Given the description of an element on the screen output the (x, y) to click on. 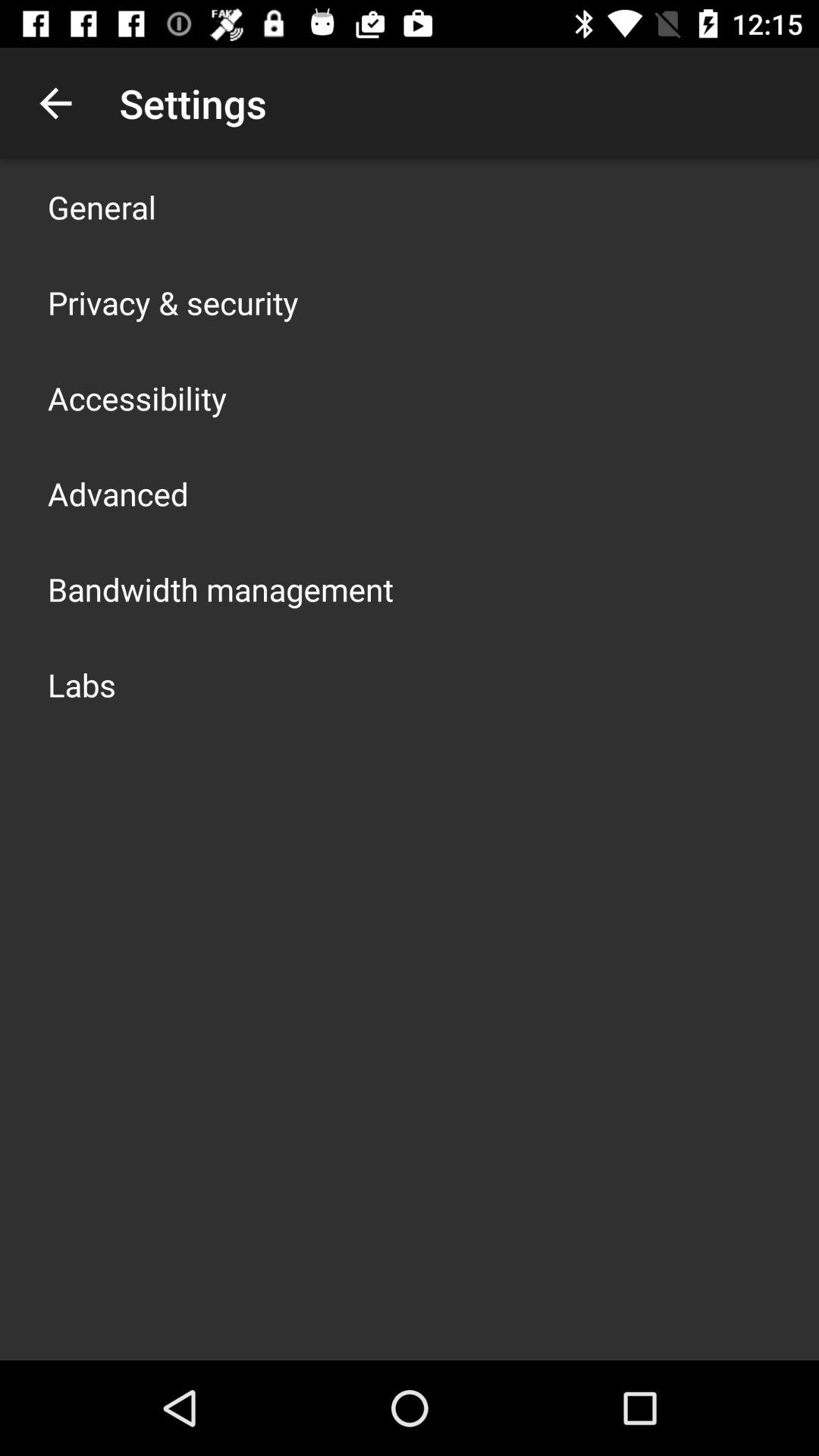
turn on the icon next to the settings app (55, 103)
